Given the description of an element on the screen output the (x, y) to click on. 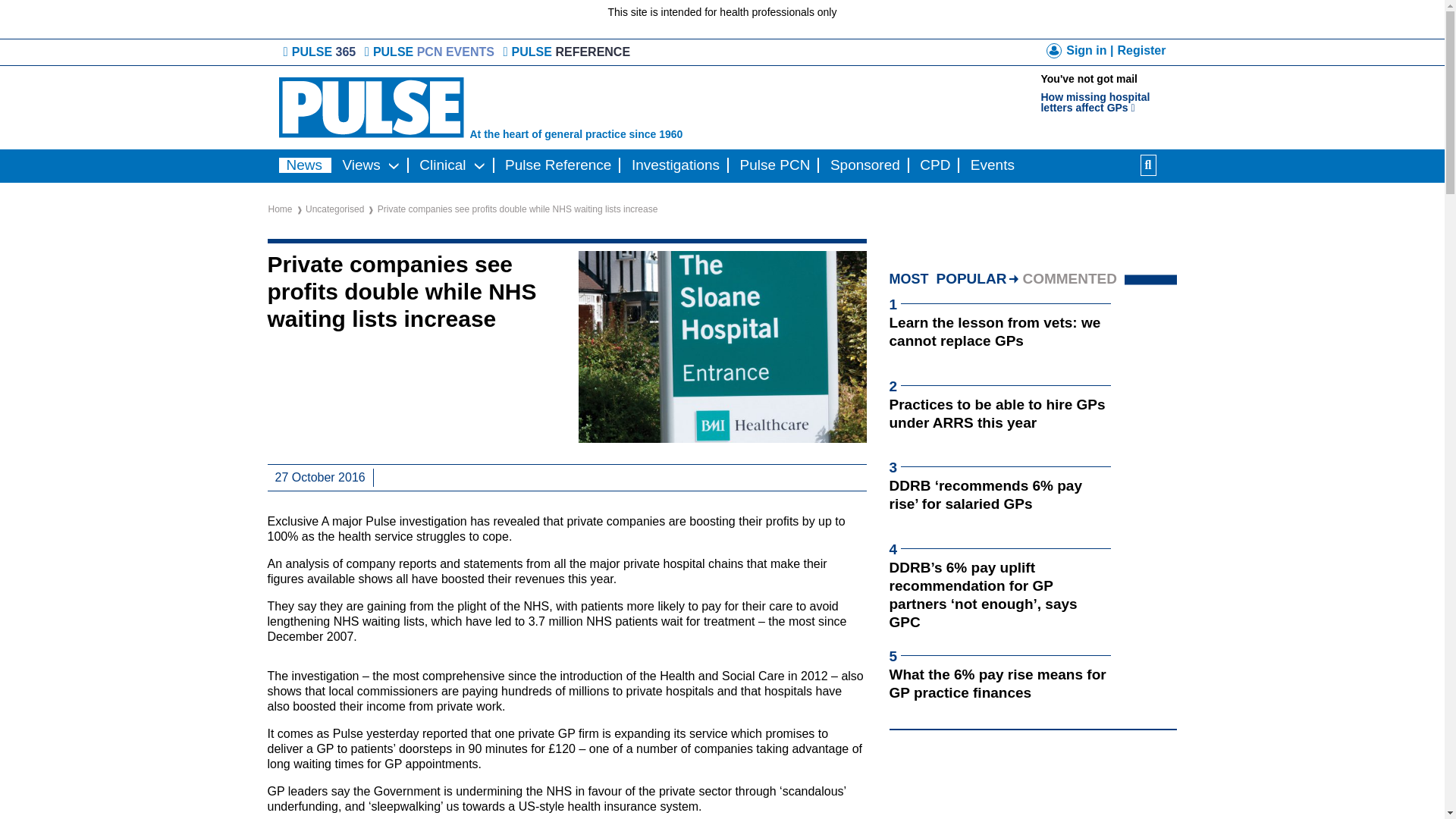
PULSE 365 (320, 51)
Pulse Reference (557, 165)
Events (992, 165)
Views (1108, 93)
Learn the lesson from vets: we cannot replace GPs (360, 165)
CPD (994, 331)
Register (935, 165)
Sign in (1141, 50)
Clinical (1079, 52)
